Given the description of an element on the screen output the (x, y) to click on. 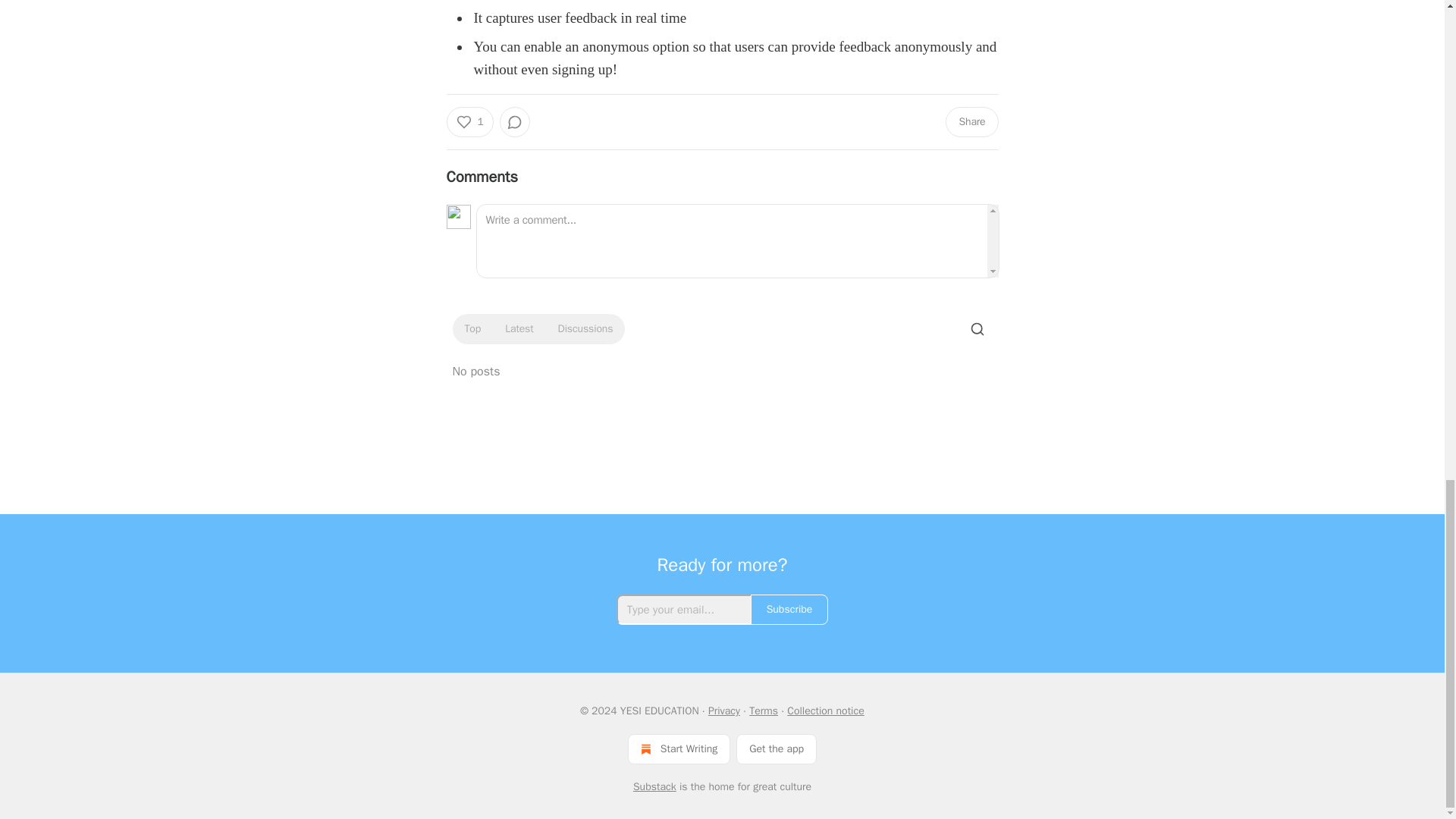
Top (471, 328)
1 (469, 122)
Latest (518, 328)
Discussions (585, 328)
Share (970, 122)
Subscribe (789, 609)
